Given the description of an element on the screen output the (x, y) to click on. 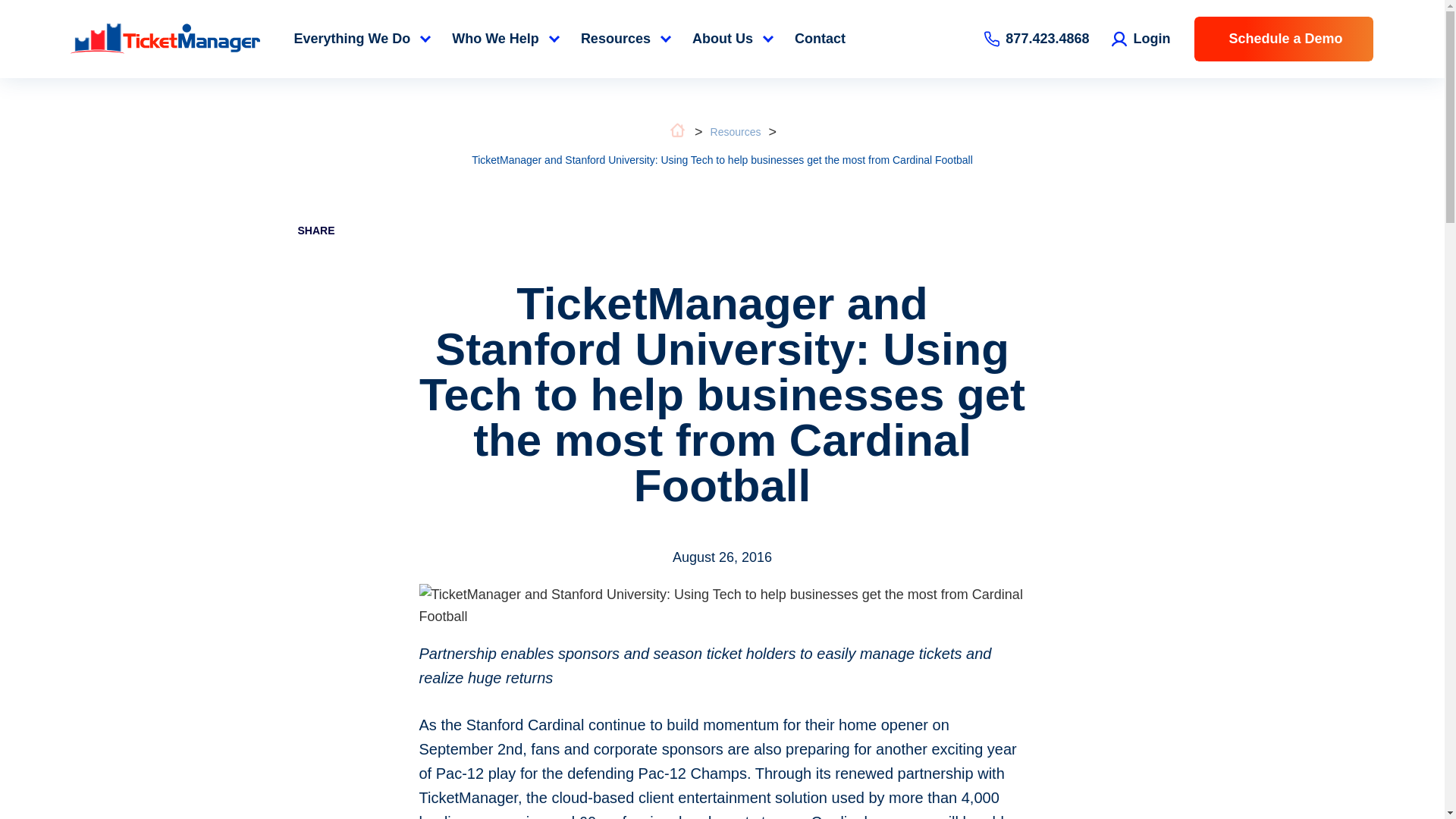
Resources (735, 132)
Go to TicketManager. (677, 135)
Everything We Do (361, 38)
Login (1141, 38)
877.423.4868 (1036, 38)
Go to Resources. (735, 132)
Schedule a Demo (1283, 38)
Resources (625, 38)
Contact (820, 38)
About Us (732, 38)
Who We Help (505, 38)
